Given the description of an element on the screen output the (x, y) to click on. 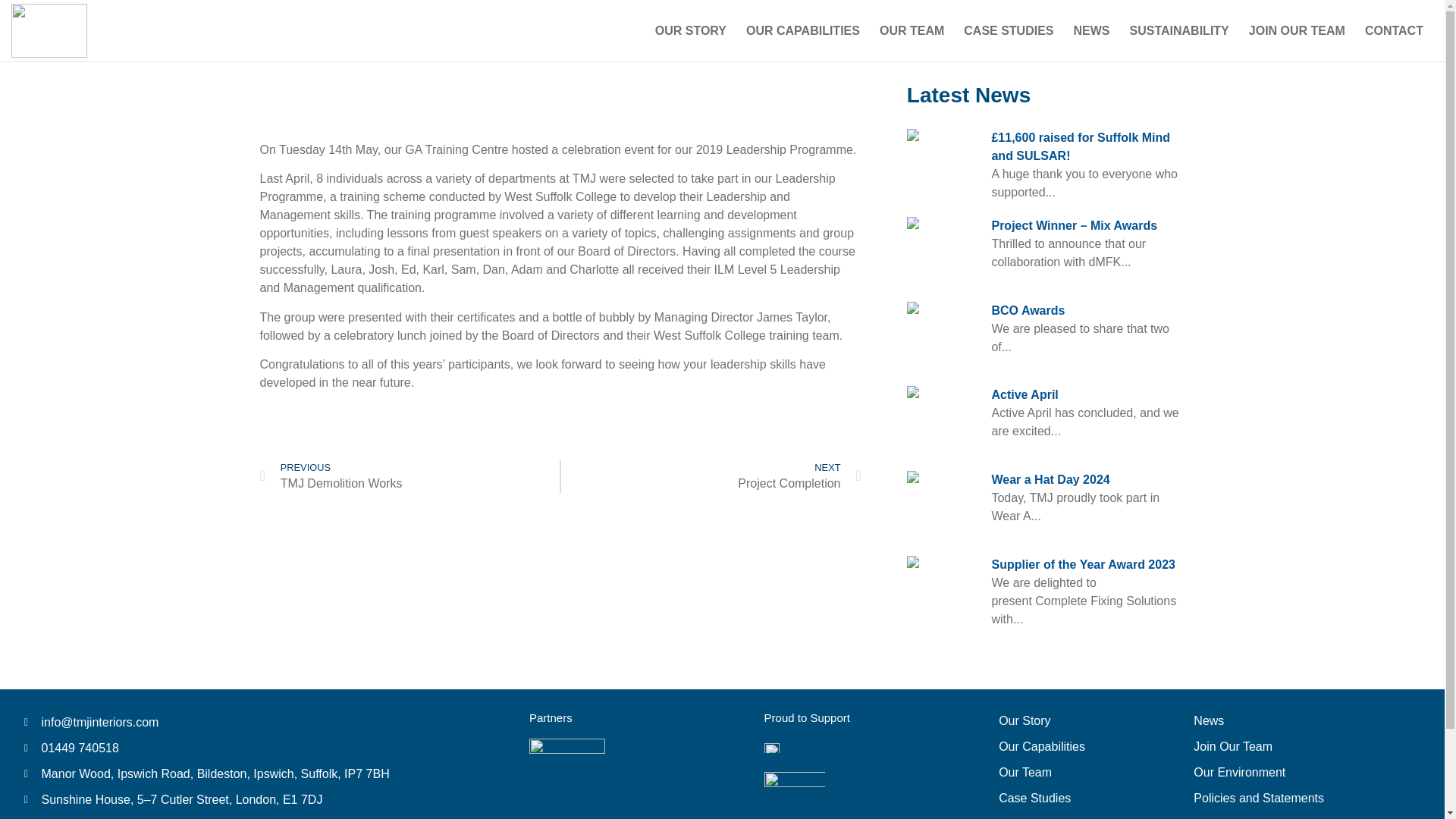
BCO Awards (1027, 309)
OUR TEAM (911, 30)
Wear a Hat Day 2024 (1050, 479)
CASE STUDIES (1007, 30)
OUR CAPABILITIES (802, 30)
NEWS (1091, 30)
Supplier of the Year Award 2023 (1082, 563)
Our Team (409, 476)
SUSTAINABILITY (1073, 772)
